Given the description of an element on the screen output the (x, y) to click on. 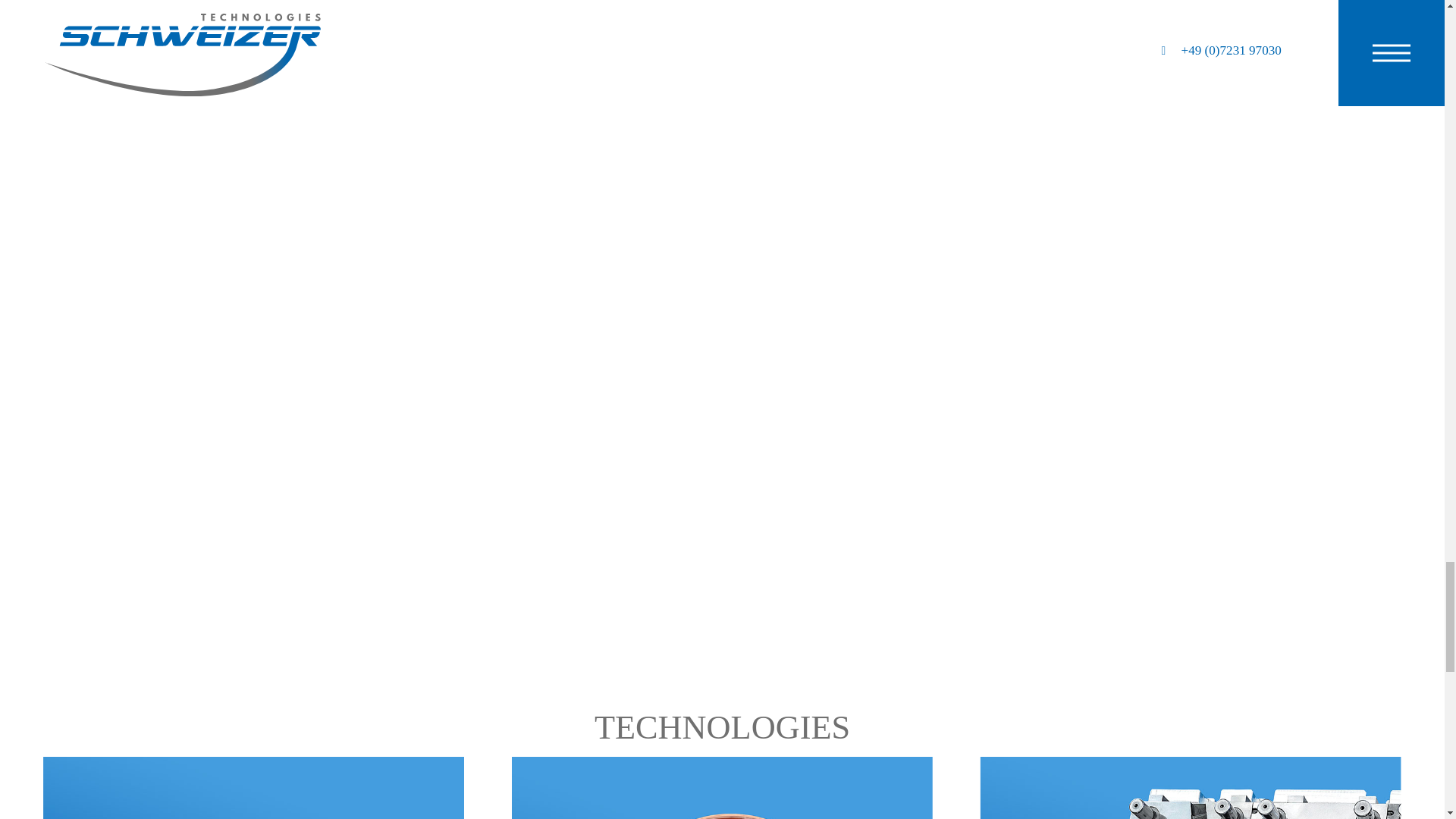
Cold forming (722, 787)
PATENTED PUNCHING (253, 794)
Tool making (1189, 787)
Patented punching (253, 787)
Tool making (1189, 794)
TOOL MAKING (1189, 794)
Patented punching (253, 794)
COLD FORMING (722, 794)
Cold forming (722, 794)
